Given the description of an element on the screen output the (x, y) to click on. 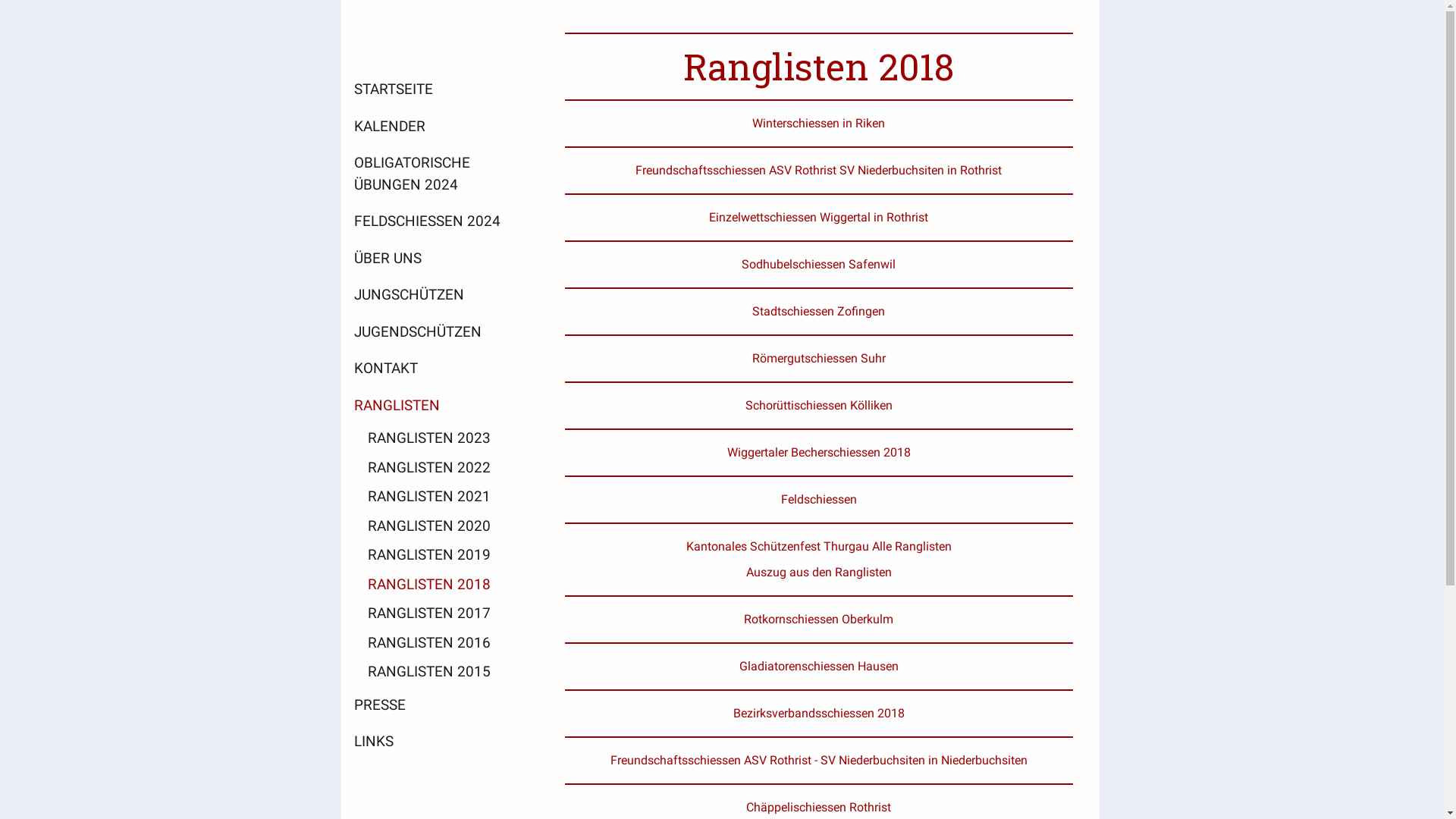
Wiggertaler Becherschiessen 2018 Element type: text (818, 452)
RANGLISTEN 2019 Element type: text (439, 555)
Stadtschiessen Zofingen Element type: text (818, 311)
KALENDER Element type: text (439, 125)
RANGLISTEN 2018 Element type: text (439, 584)
RANGLISTEN 2020 Element type: text (439, 525)
LINKS Element type: text (439, 741)
Winterschiessen in Riken Element type: text (818, 123)
RANGLISTEN 2015 Element type: text (439, 672)
Einzelwettschiessen Wiggertal in Rothrist Element type: text (818, 217)
KONTAKT Element type: text (439, 368)
FELDSCHIESSEN 2024 Element type: text (439, 221)
RANGLISTEN 2016 Element type: text (439, 642)
RANGLISTEN Element type: text (439, 404)
Bezirksverbandsschiessen 2018 Element type: text (817, 713)
Feldschiessen Element type: text (818, 499)
Rotkornschiessen Oberkulm Element type: text (818, 618)
Gladiatorenschiessen Hausen Element type: text (817, 665)
RANGLISTEN 2017 Element type: text (439, 613)
Sodhubelschiessen Safenwil Element type: text (818, 264)
Auszug aus den Ranglisten Element type: text (818, 571)
RANGLISTEN 2022 Element type: text (439, 468)
RANGLISTEN 2021 Element type: text (439, 496)
RANGLISTEN 2023 Element type: text (439, 438)
PRESSE Element type: text (439, 705)
STARTSEITE Element type: text (439, 89)
